Given the description of an element on the screen output the (x, y) to click on. 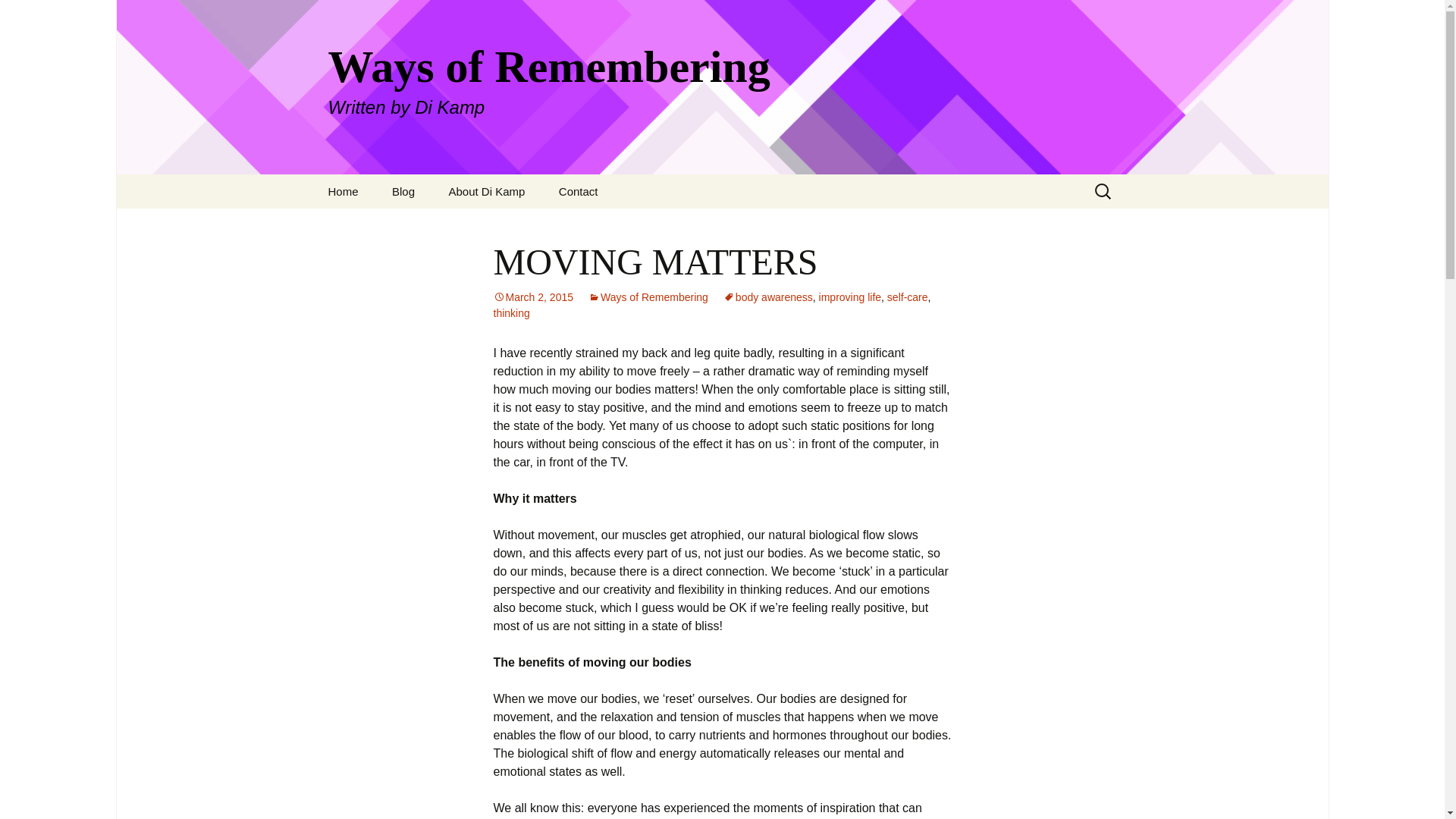
improving life (18, 15)
Ways of Remembering (849, 297)
Skip to content (647, 297)
Contact (767, 297)
March 2, 2015 (577, 191)
Blog (533, 297)
thinking (403, 191)
About Di Kamp (511, 313)
Home (486, 191)
Permalink to MOVING MATTERS (342, 191)
Skip to content (533, 297)
